Given the description of an element on the screen output the (x, y) to click on. 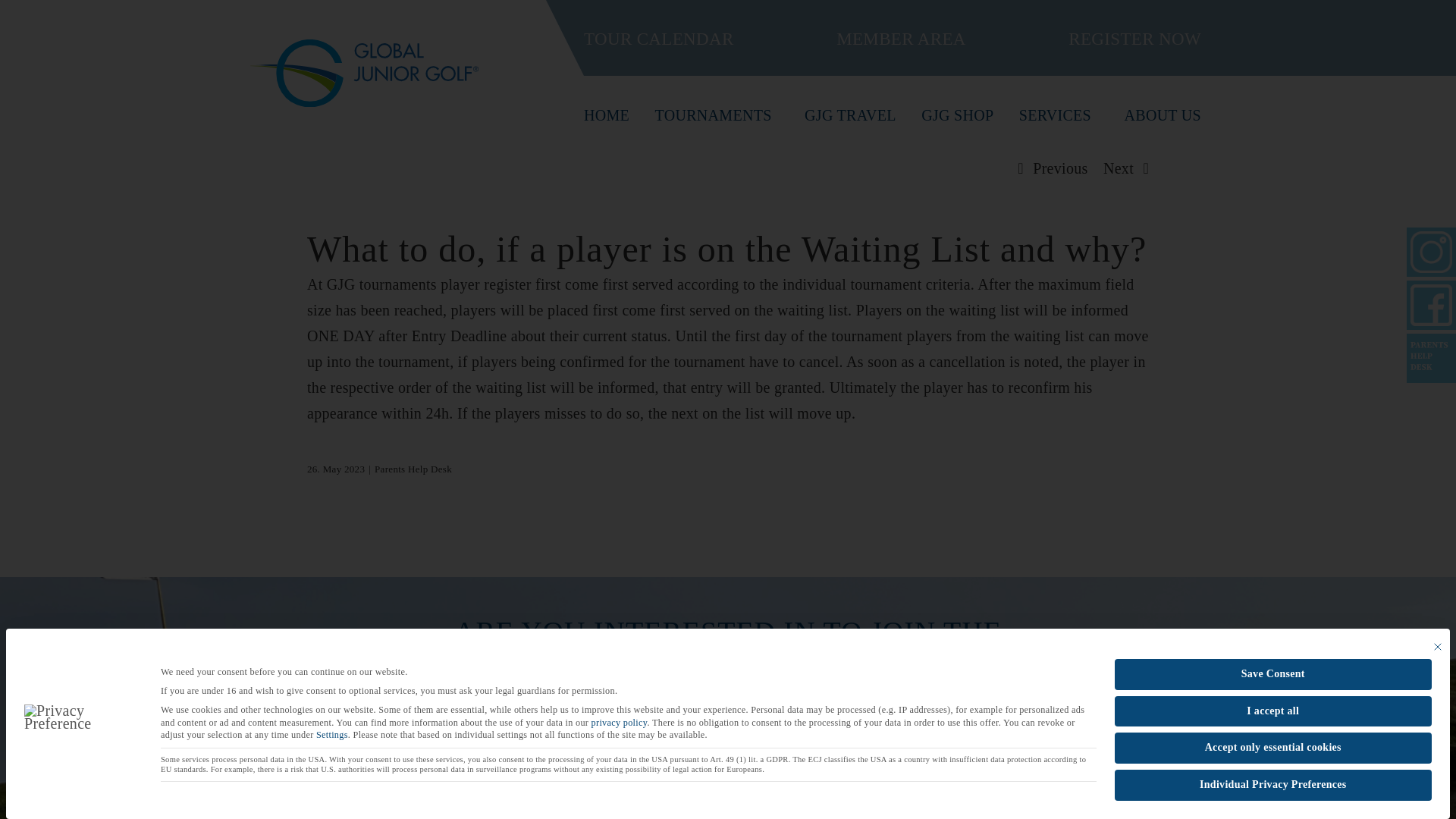
TOURNAMENTS (716, 115)
SERVICES (1059, 115)
GJG SHOP (956, 115)
GJG TRAVEL (850, 115)
ABOUT US (1162, 115)
MEMBER AREA (900, 39)
Go to Startpage of GlobalJuniorGolfLive (363, 77)
REGISTER NOW (1134, 39)
TOUR CALENDAR (658, 39)
